Given the description of an element on the screen output the (x, y) to click on. 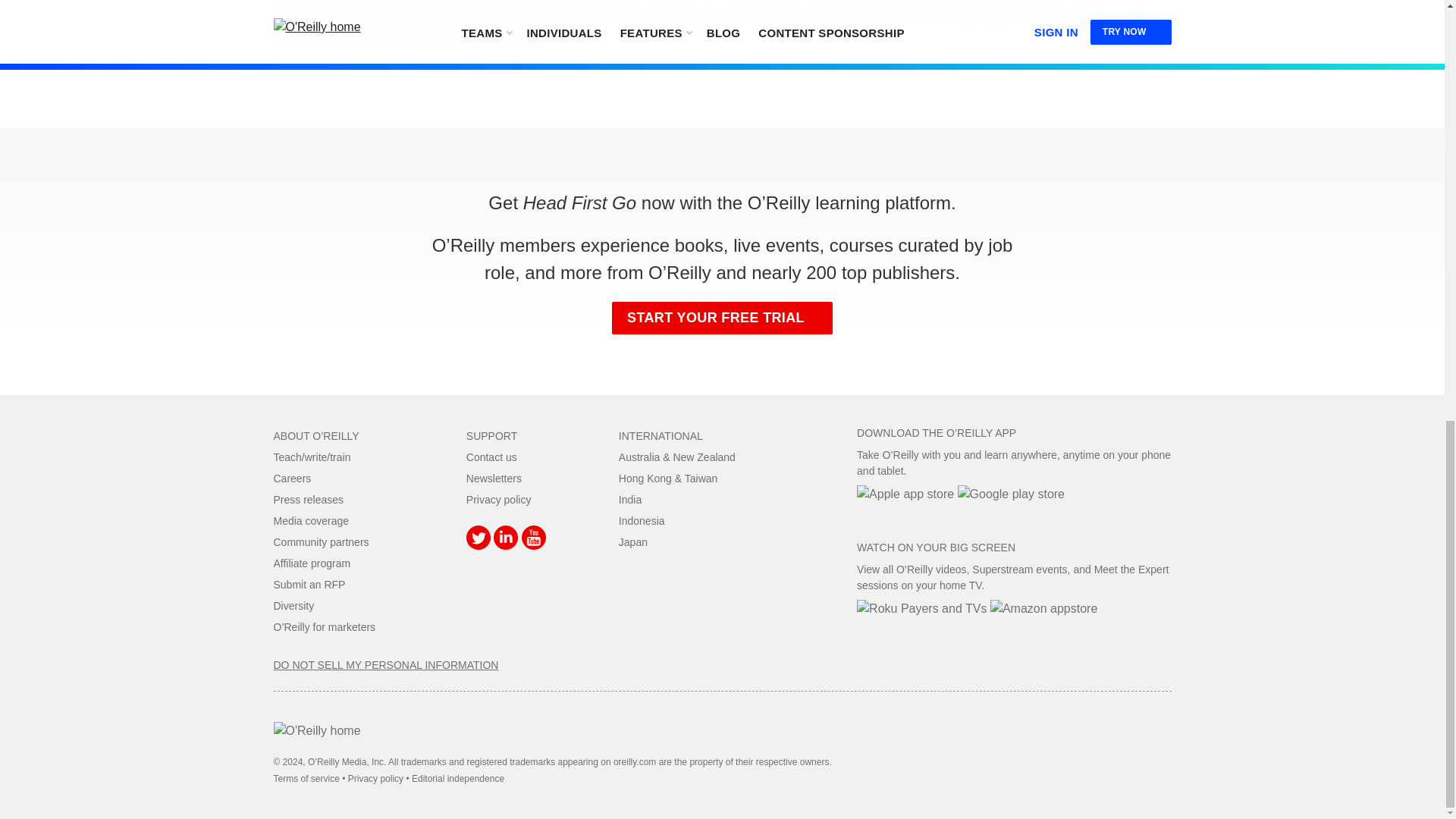
Newsletters (493, 478)
Media coverage (311, 521)
SUPPORT (490, 435)
Press releases (308, 499)
home page (316, 730)
START YOUR FREE TRIAL (721, 318)
Community partners (320, 541)
Careers (292, 478)
Contact us (490, 457)
Privacy policy (498, 499)
